Given the description of an element on the screen output the (x, y) to click on. 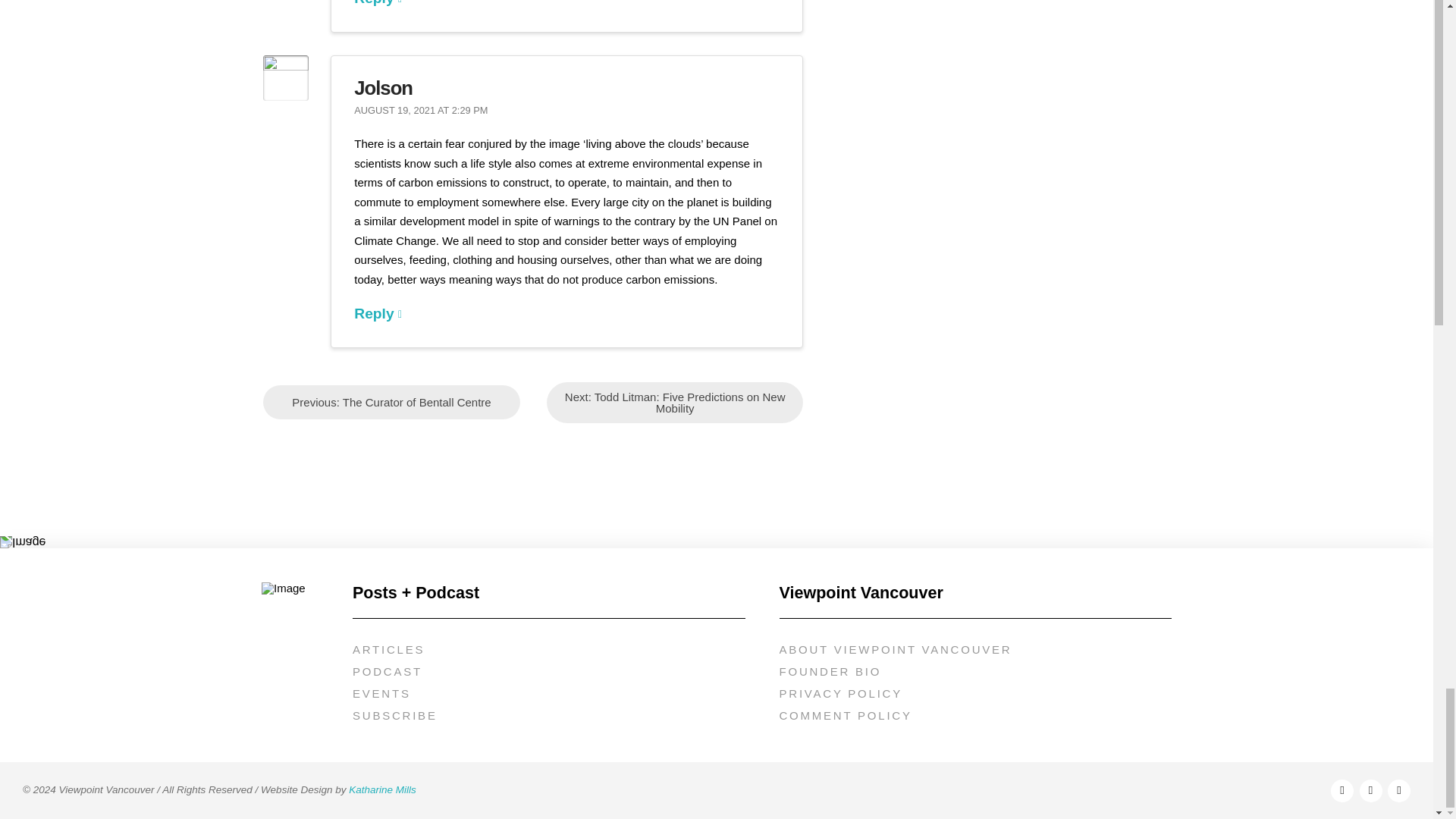
Katharine Mills Website Designer Wordpress Developer (382, 789)
AUGUST 19, 2021 AT 2:29 PM (420, 110)
Reply (377, 313)
Previous: The Curator of Bentall Centre (391, 401)
Reply (377, 2)
Next: Todd Litman: Five Predictions on New Mobility (675, 402)
